Given the description of an element on the screen output the (x, y) to click on. 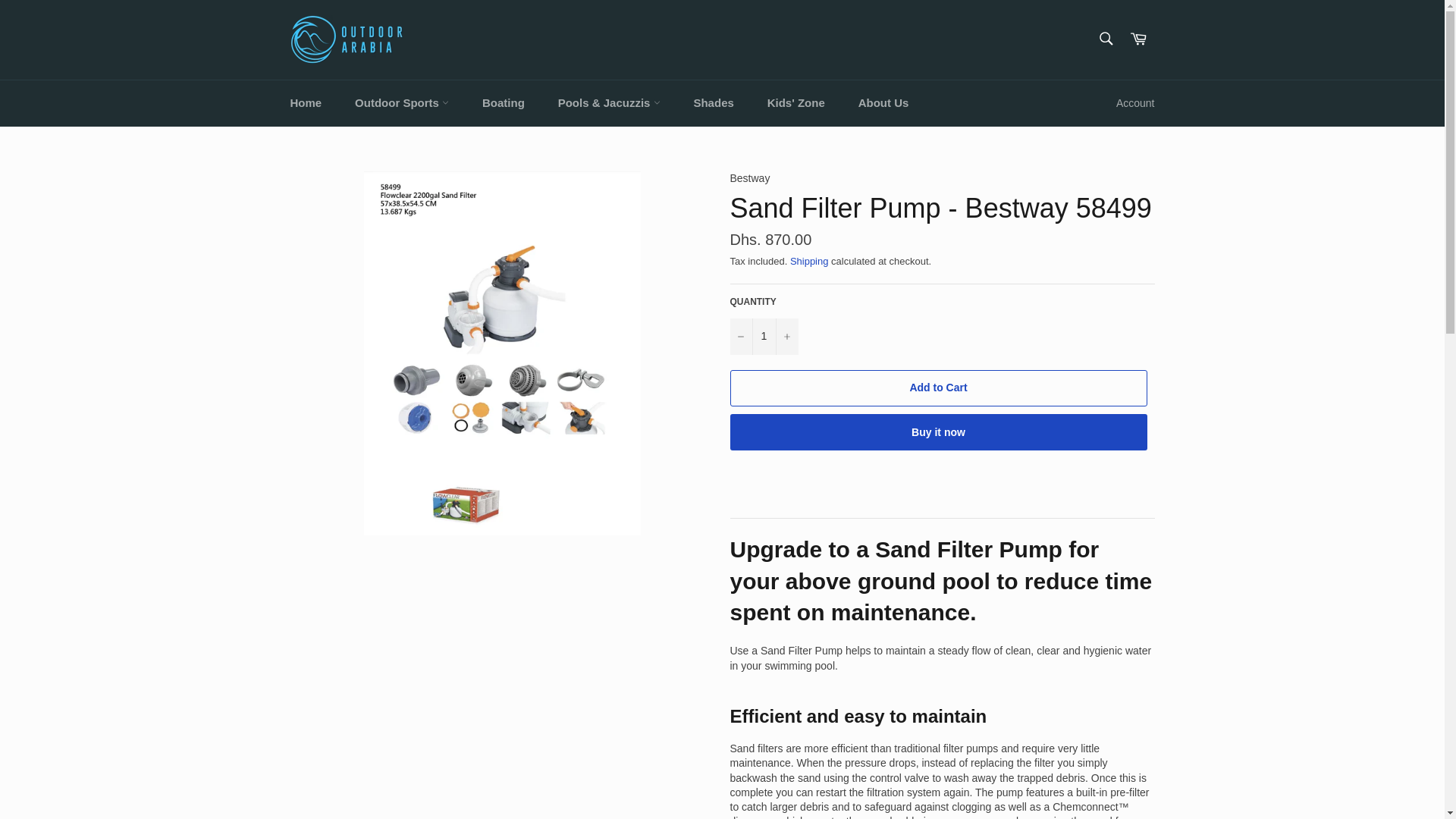
Search (1104, 38)
Outdoor Sports (401, 103)
Cart (1138, 39)
1 (763, 336)
Home (305, 103)
